Given the description of an element on the screen output the (x, y) to click on. 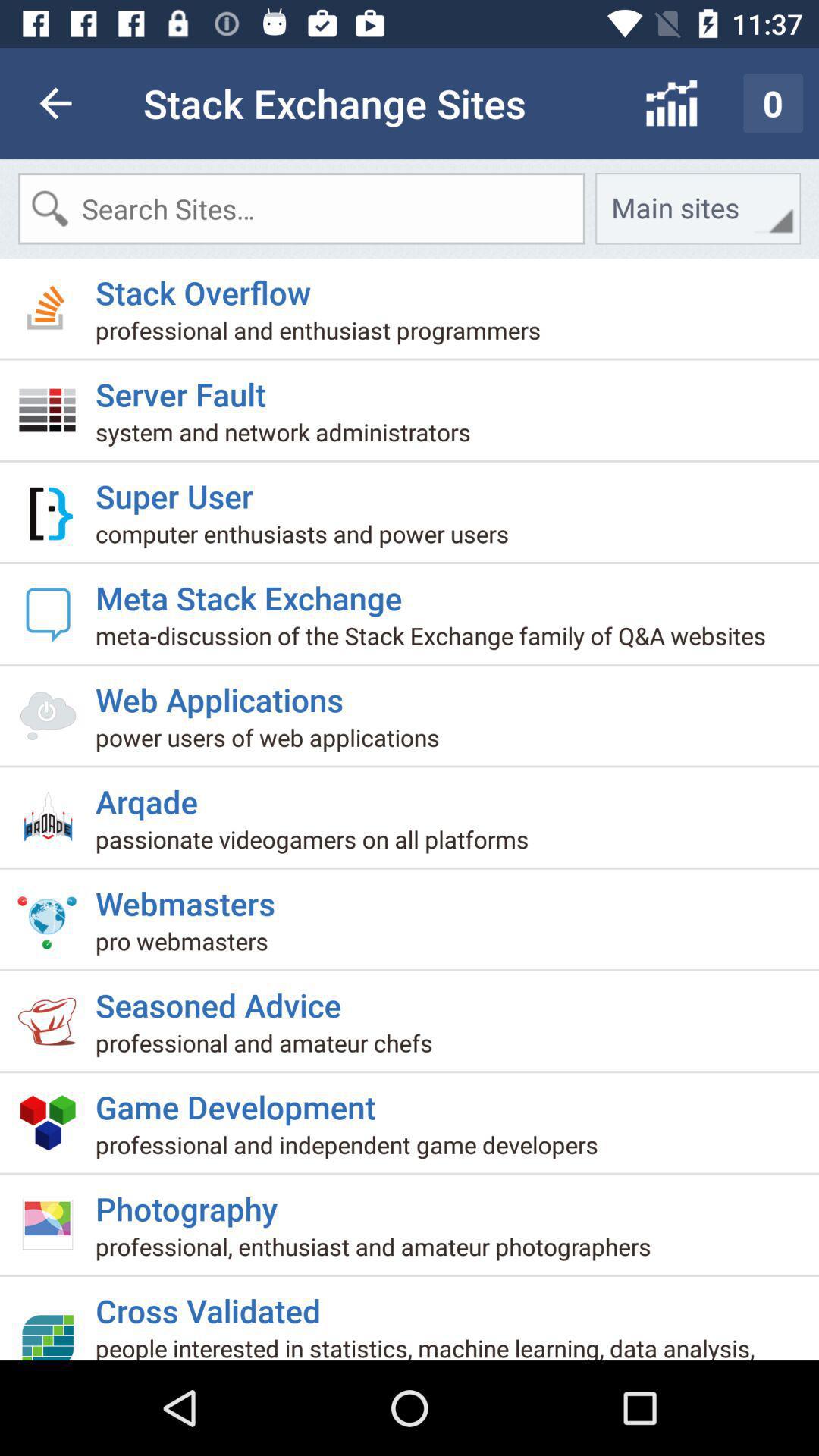
open icon below power users of icon (152, 794)
